Given the description of an element on the screen output the (x, y) to click on. 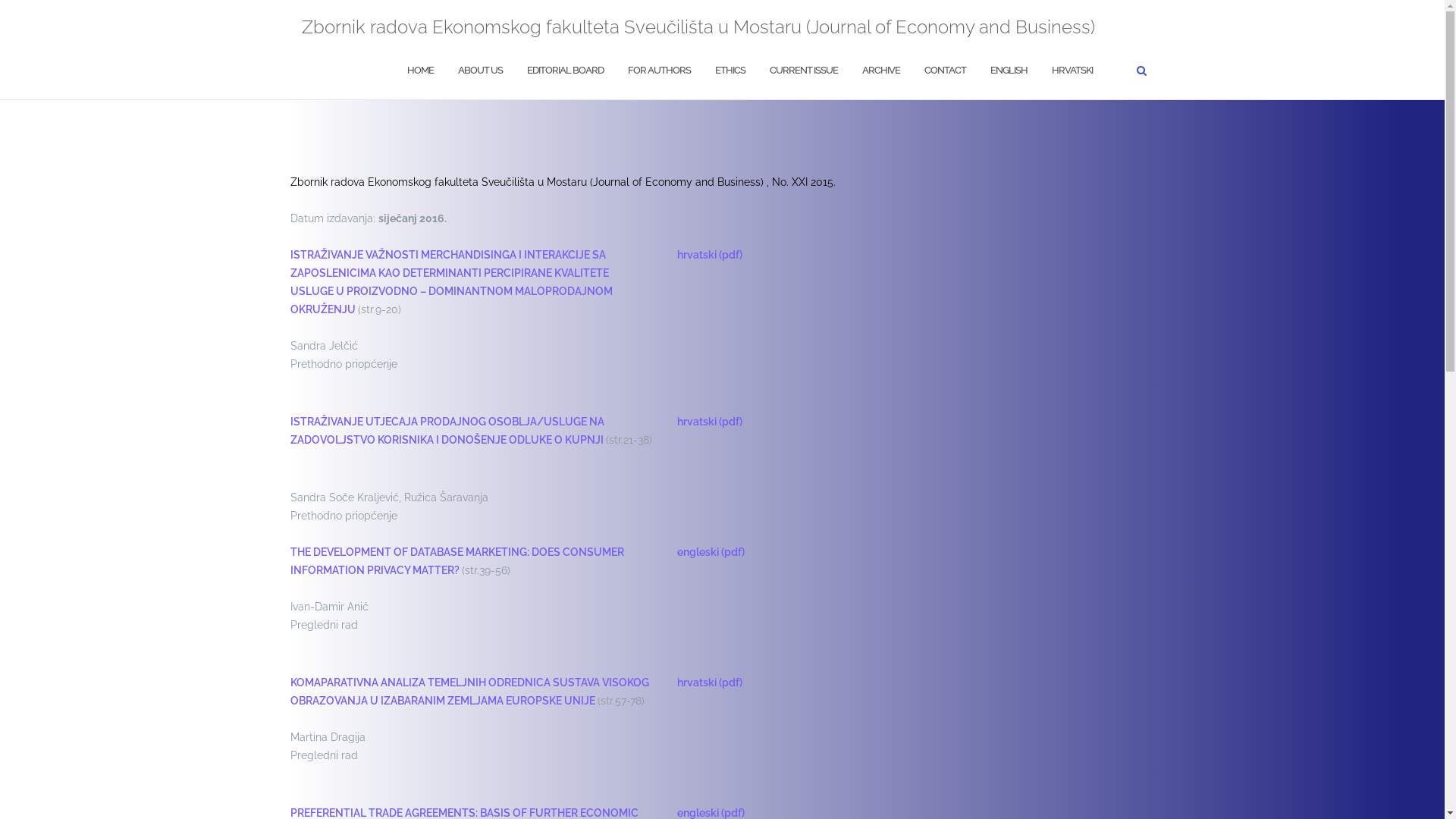
CONTACT Element type: text (944, 70)
ABOUT US Element type: text (480, 70)
FOR AUTHORS Element type: text (658, 70)
ETHICS Element type: text (729, 70)
CURRENT ISSUE Element type: text (802, 70)
HOME Element type: text (419, 70)
EDITORIAL BOARD Element type: text (564, 70)
hrvatski (pdf) Element type: text (709, 421)
ARCHIVE Element type: text (880, 70)
hrvatski (pdf) Element type: text (709, 682)
ENGLISH Element type: text (1008, 70)
engleski (pdf) Element type: text (710, 552)
hrvatski (pdf) Element type: text (709, 254)
Skip to content Element type: text (0, 0)
HRVATSKI Element type: text (1071, 70)
